Given the description of an element on the screen output the (x, y) to click on. 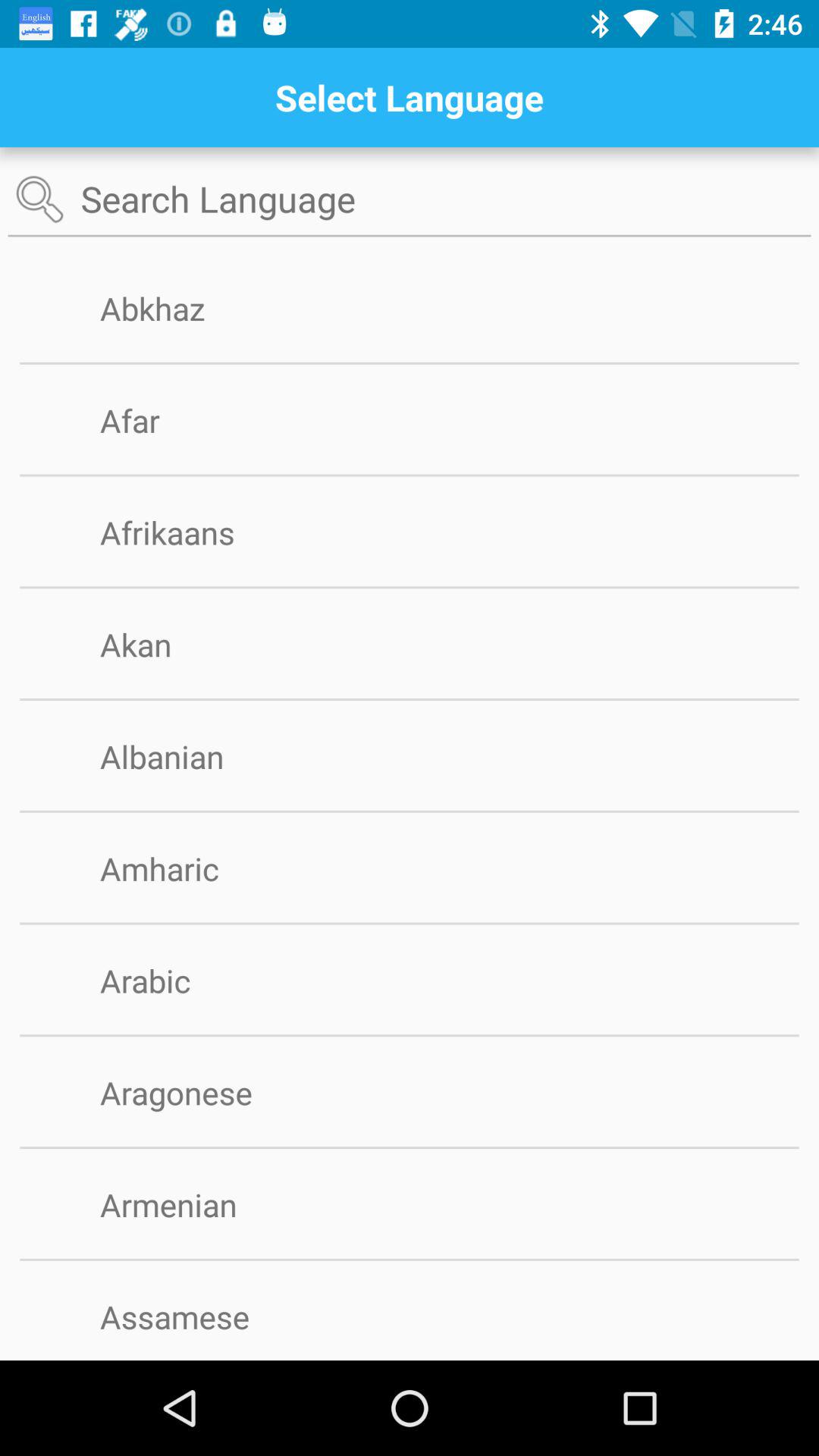
turn off the icon above the akan (409, 587)
